Given the description of an element on the screen output the (x, y) to click on. 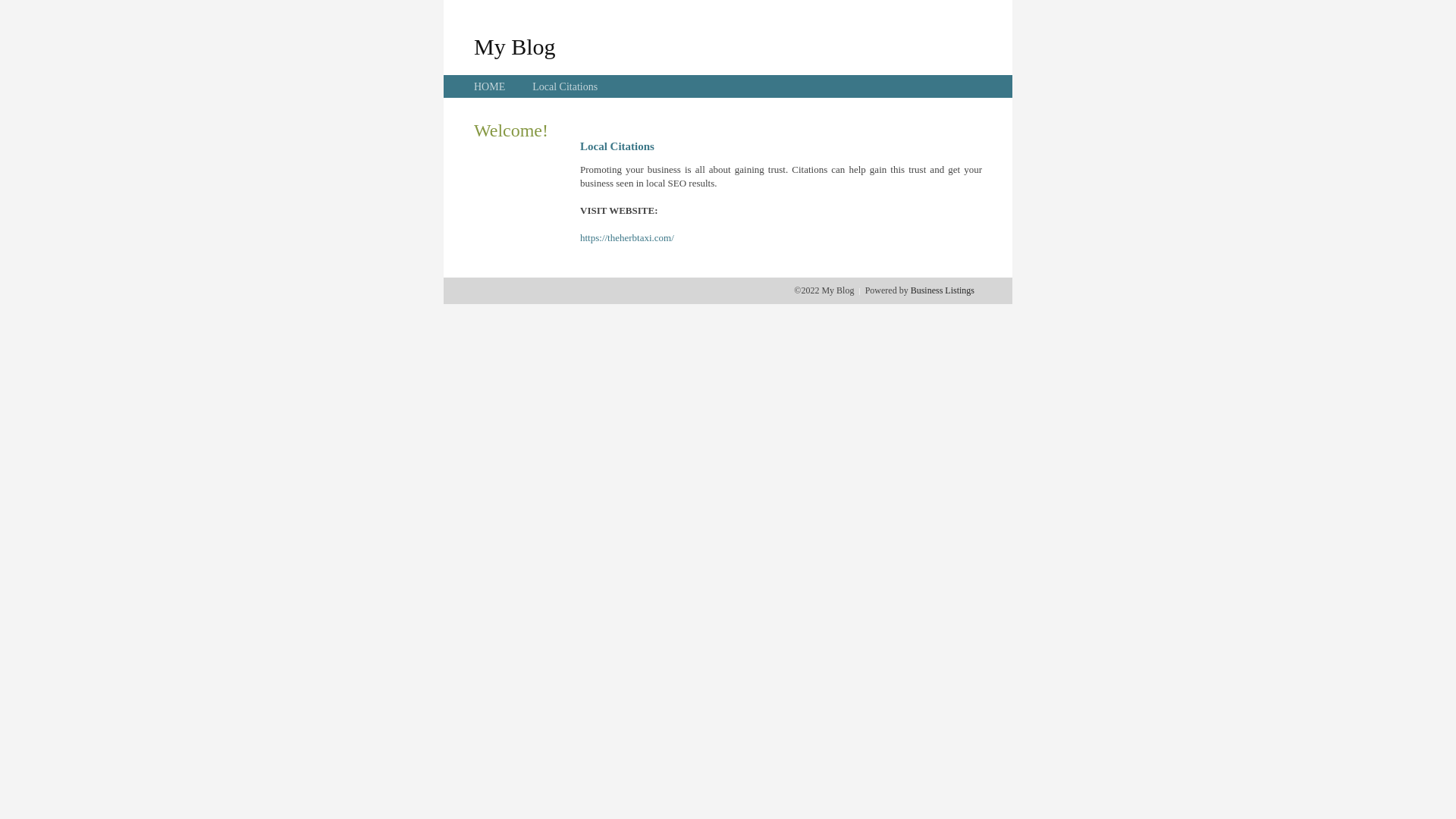
Business Listings Element type: text (942, 290)
HOME Element type: text (489, 86)
https://theherbtaxi.com/ Element type: text (627, 237)
My Blog Element type: text (514, 46)
Local Citations Element type: text (564, 86)
